Given the description of an element on the screen output the (x, y) to click on. 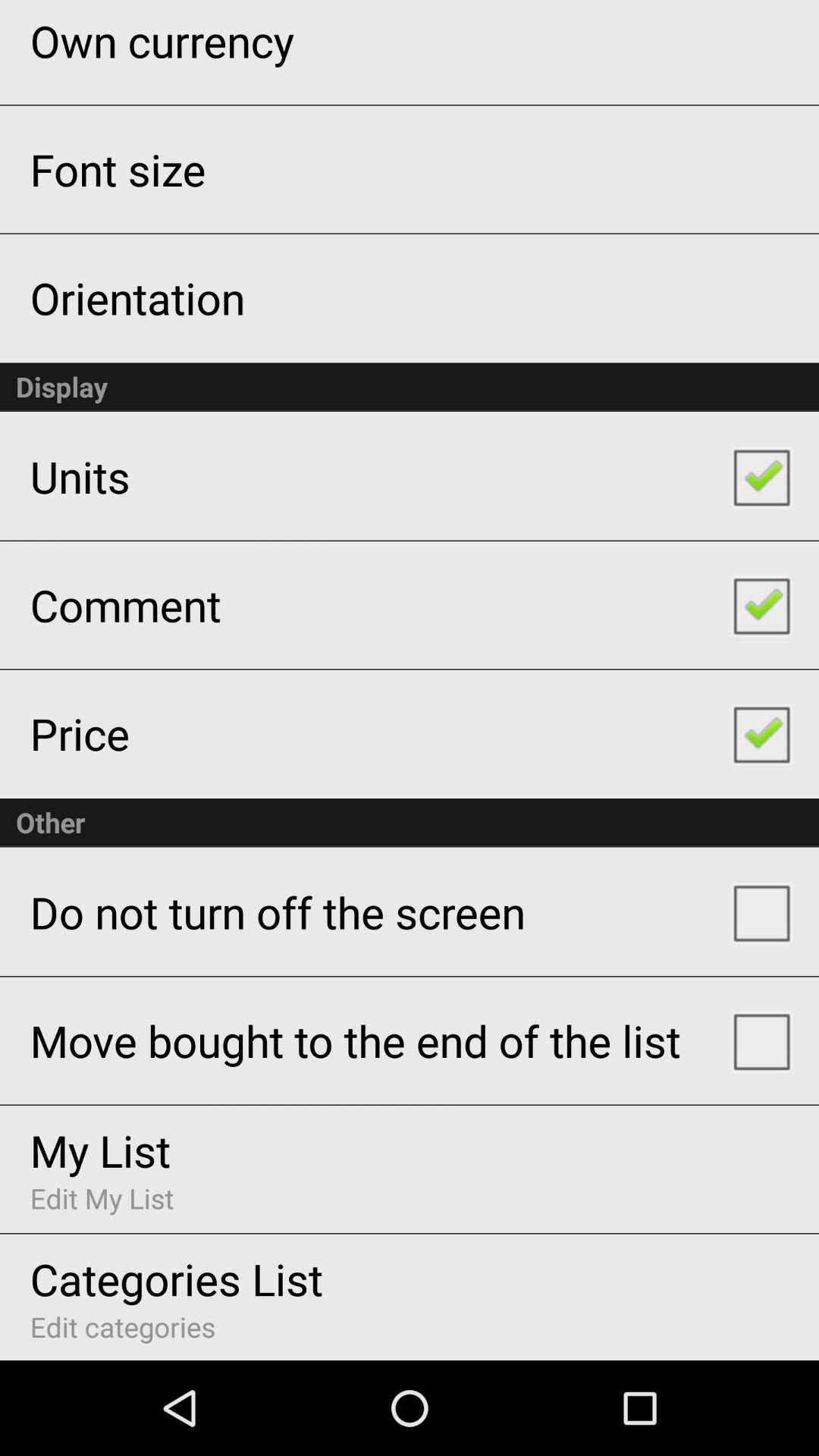
scroll until other (409, 822)
